Given the description of an element on the screen output the (x, y) to click on. 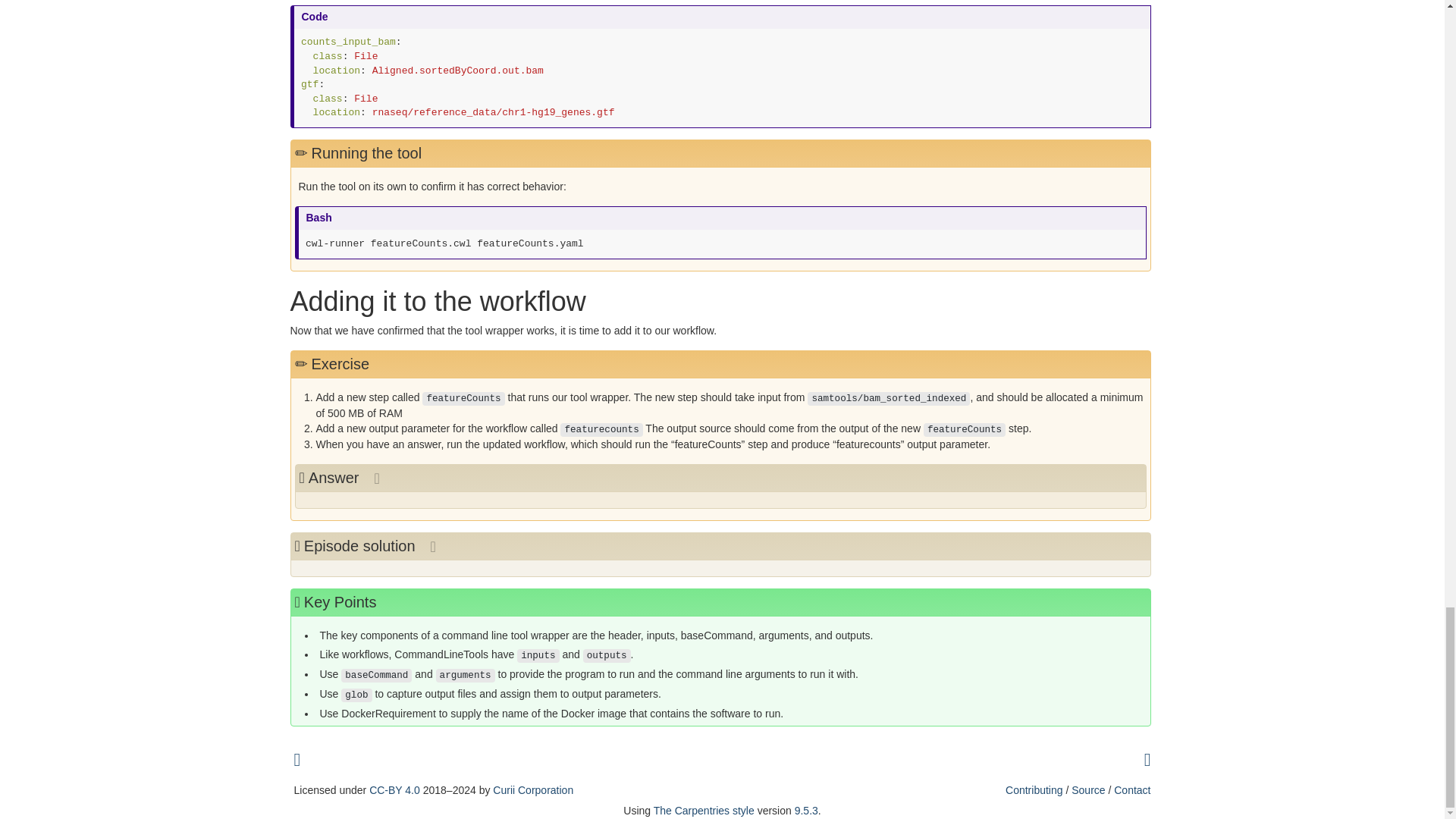
Contributing (1034, 789)
Source (1088, 789)
Contact (1131, 789)
CC-BY 4.0 (394, 789)
Curii Corporation (533, 789)
9.5.3 (806, 810)
The Carpentries style (703, 810)
